Given the description of an element on the screen output the (x, y) to click on. 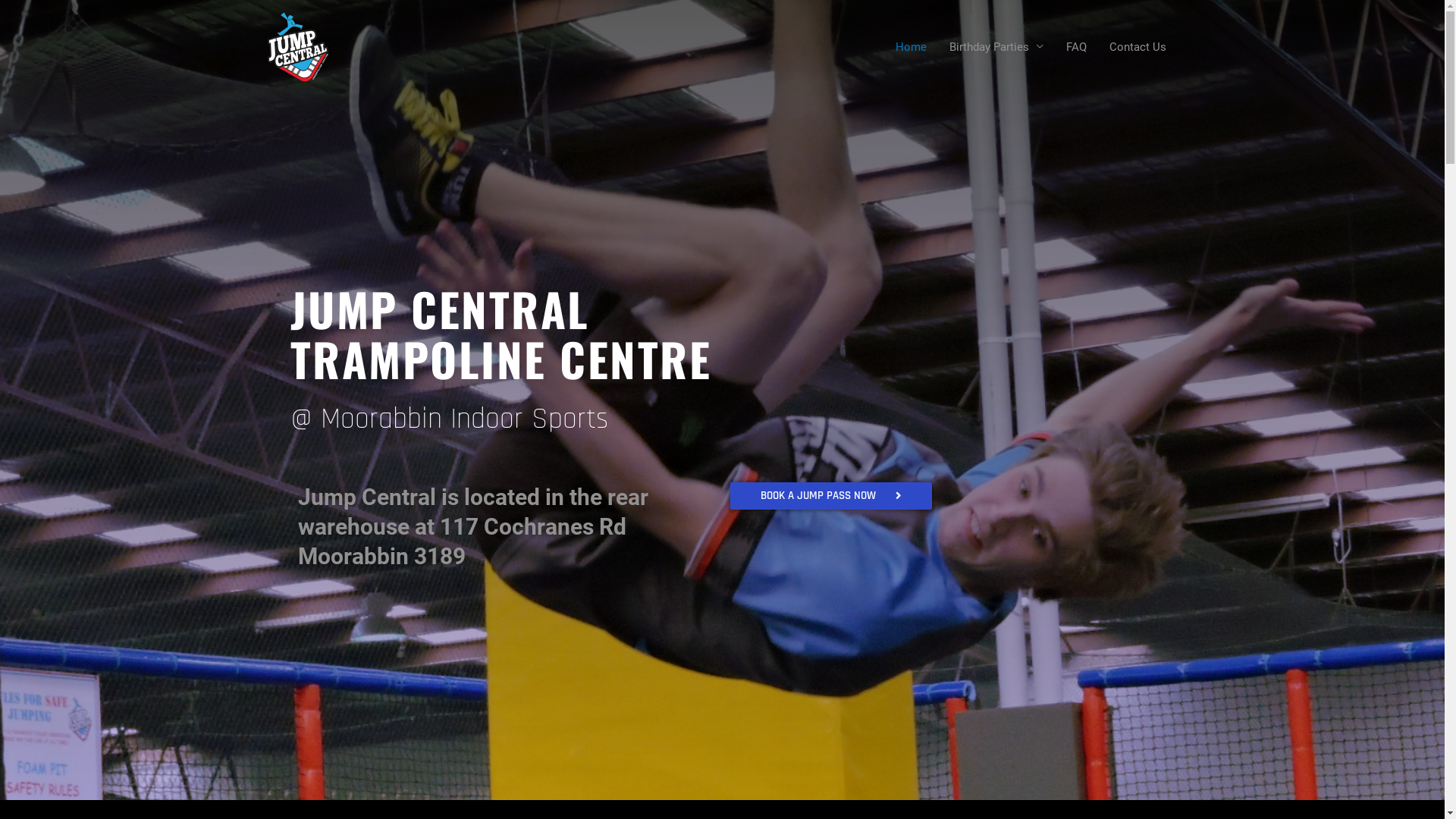
Home Element type: text (911, 46)
Birthday Parties Element type: text (995, 46)
BOOK A JUMP PASS NOW Element type: text (830, 495)
Contact Us Element type: text (1137, 46)
FAQ Element type: text (1075, 46)
